Given the description of an element on the screen output the (x, y) to click on. 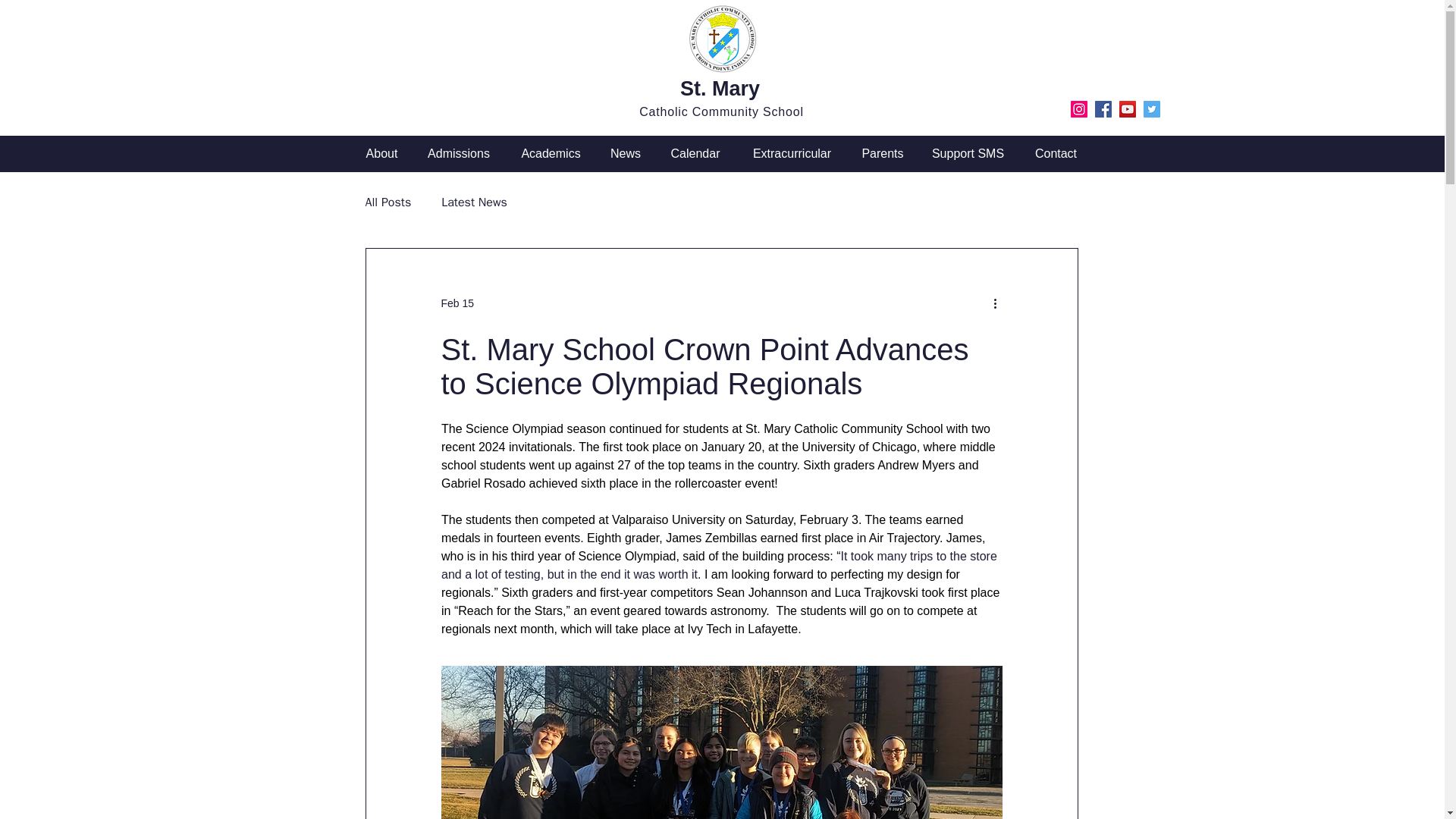
Admissions (457, 153)
St. Mary (719, 87)
News (624, 153)
Academics (550, 153)
About (381, 153)
Calendar (694, 153)
Extracurricular (791, 153)
Feb 15 (457, 303)
